Given the description of an element on the screen output the (x, y) to click on. 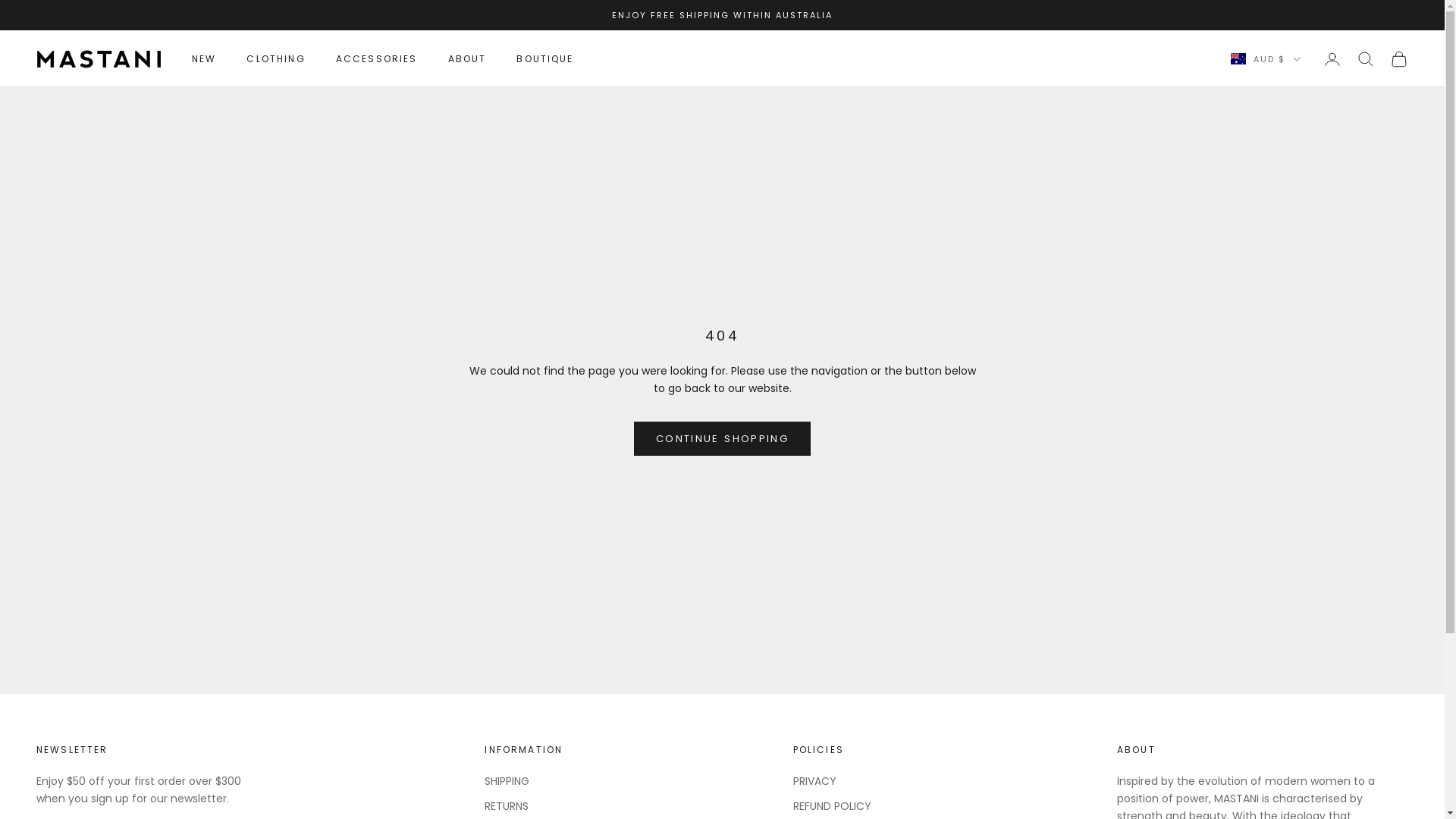
MASTANI Element type: text (98, 59)
Open search Element type: text (1365, 59)
SHIPPING Element type: text (506, 780)
RETURNS Element type: text (506, 805)
REFUND POLICY Element type: text (832, 805)
Open account page Element type: text (1332, 59)
Open cart Element type: text (1399, 59)
AUD $ Element type: text (1265, 58)
BOUTIQUE Element type: text (544, 58)
PRIVACY Element type: text (814, 780)
CONTINUE SHOPPING Element type: text (721, 438)
